Given the description of an element on the screen output the (x, y) to click on. 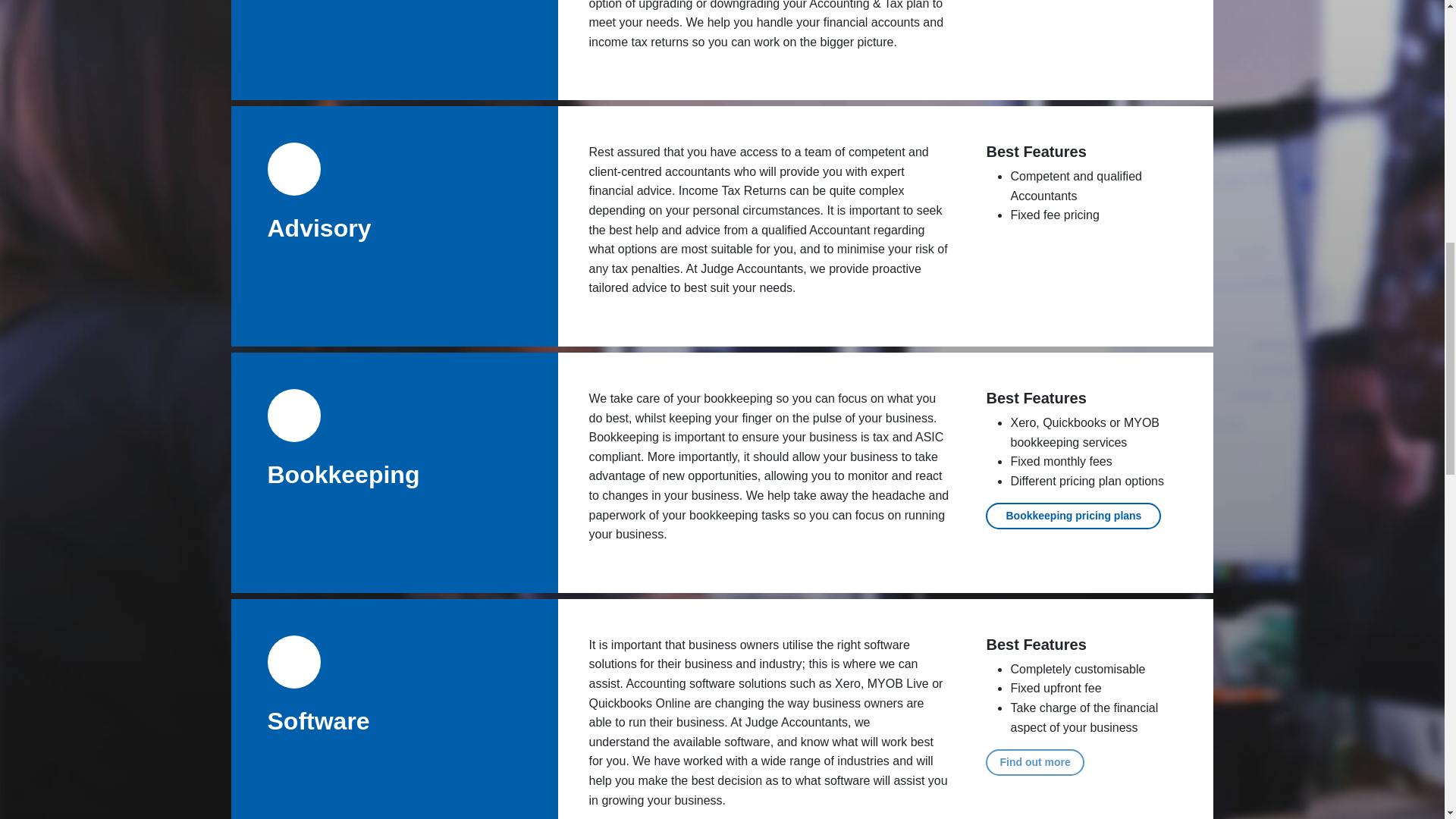
Find out more (1034, 761)
Bookkeeping pricing plans (1072, 515)
